Given the description of an element on the screen output the (x, y) to click on. 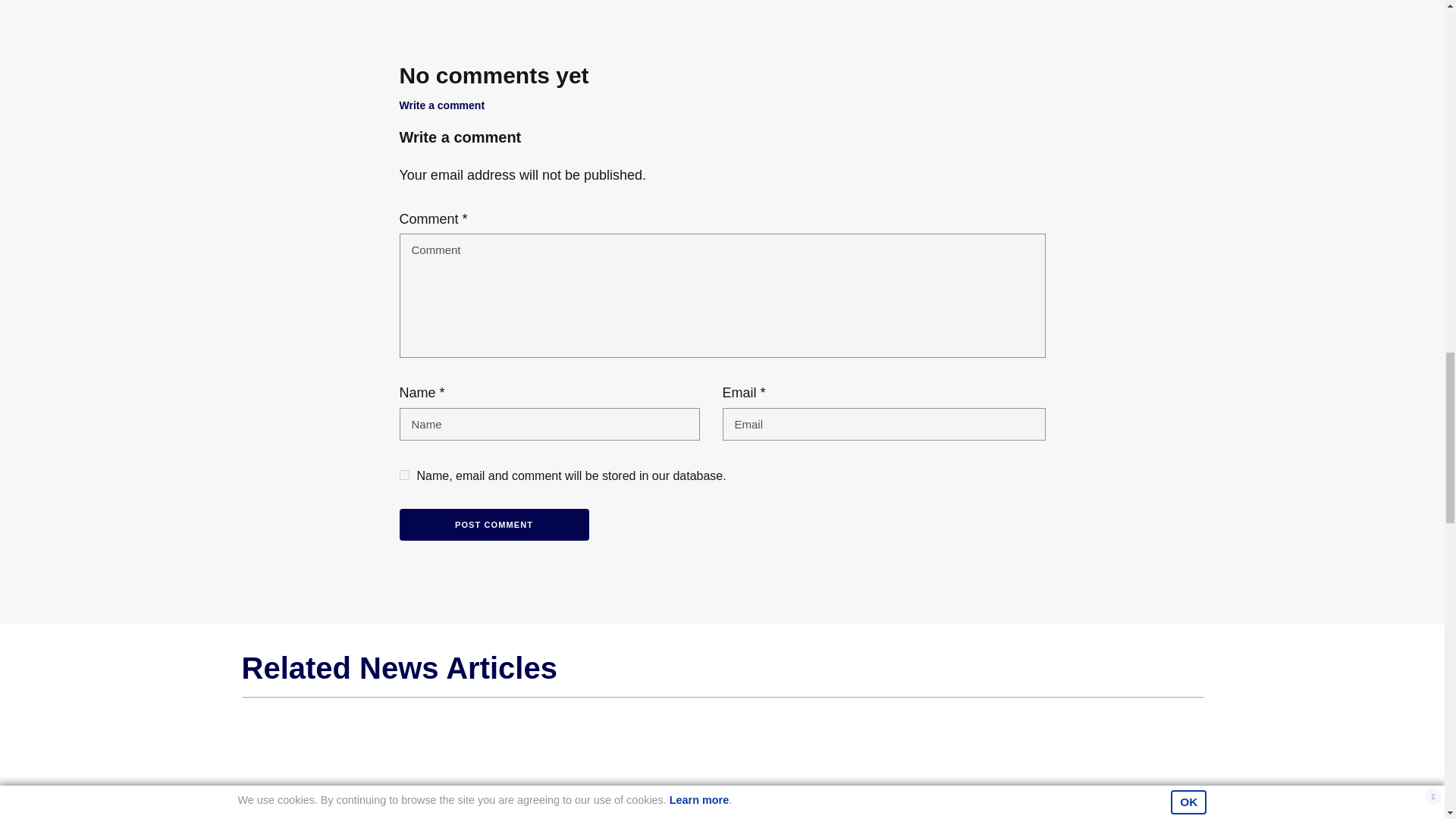
yes (403, 474)
Post Comment (493, 524)
